Given the description of an element on the screen output the (x, y) to click on. 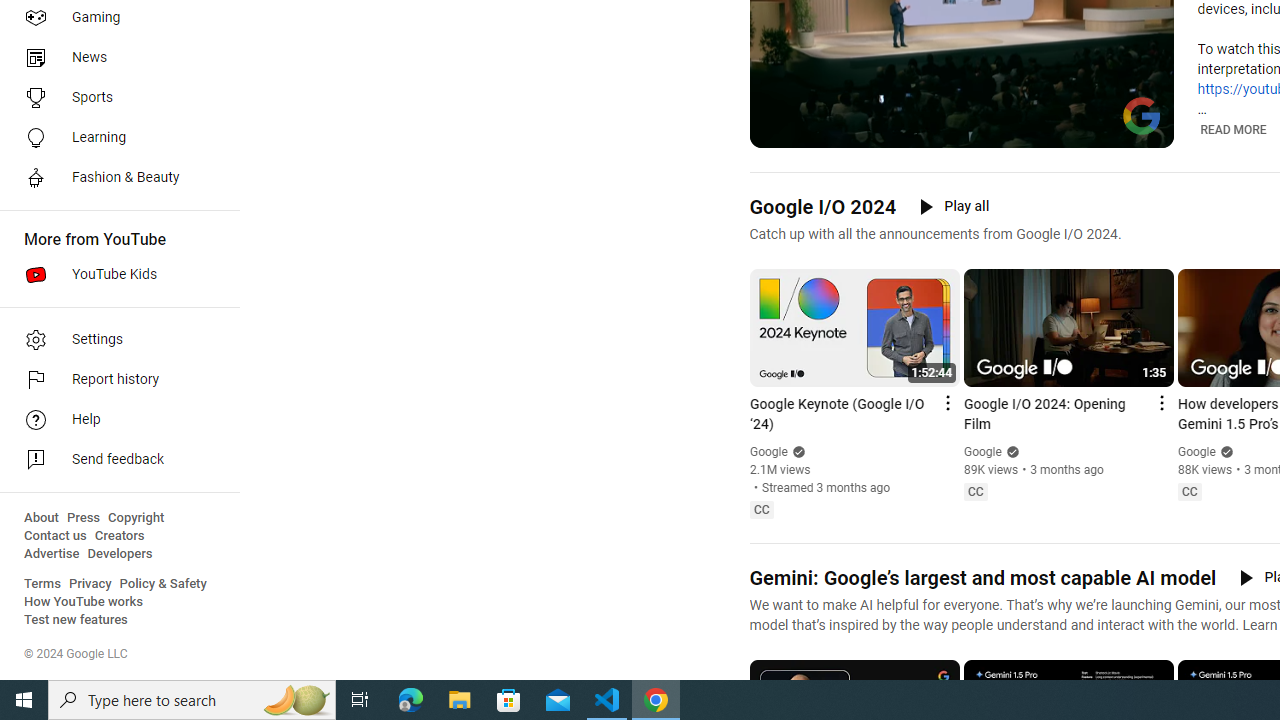
Developers (120, 554)
Play all (954, 206)
Fashion & Beauty (113, 177)
Learning (113, 137)
Subtitles/closed captions unavailable (1071, 130)
Send feedback (113, 459)
Seek slider (961, 109)
